Given the description of an element on the screen output the (x, y) to click on. 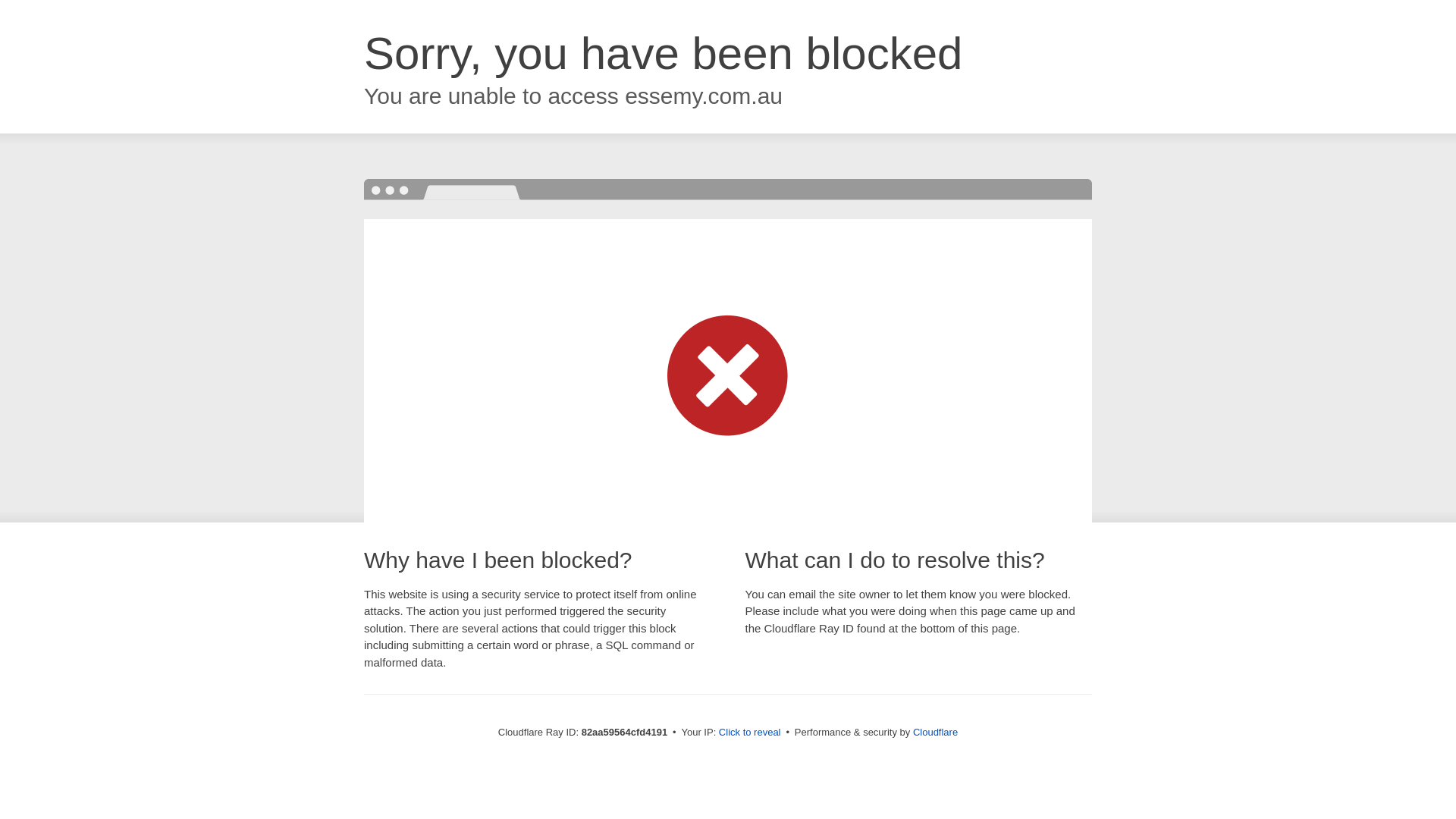
Cloudflare Element type: text (935, 731)
Click to reveal Element type: text (749, 732)
